Given the description of an element on the screen output the (x, y) to click on. 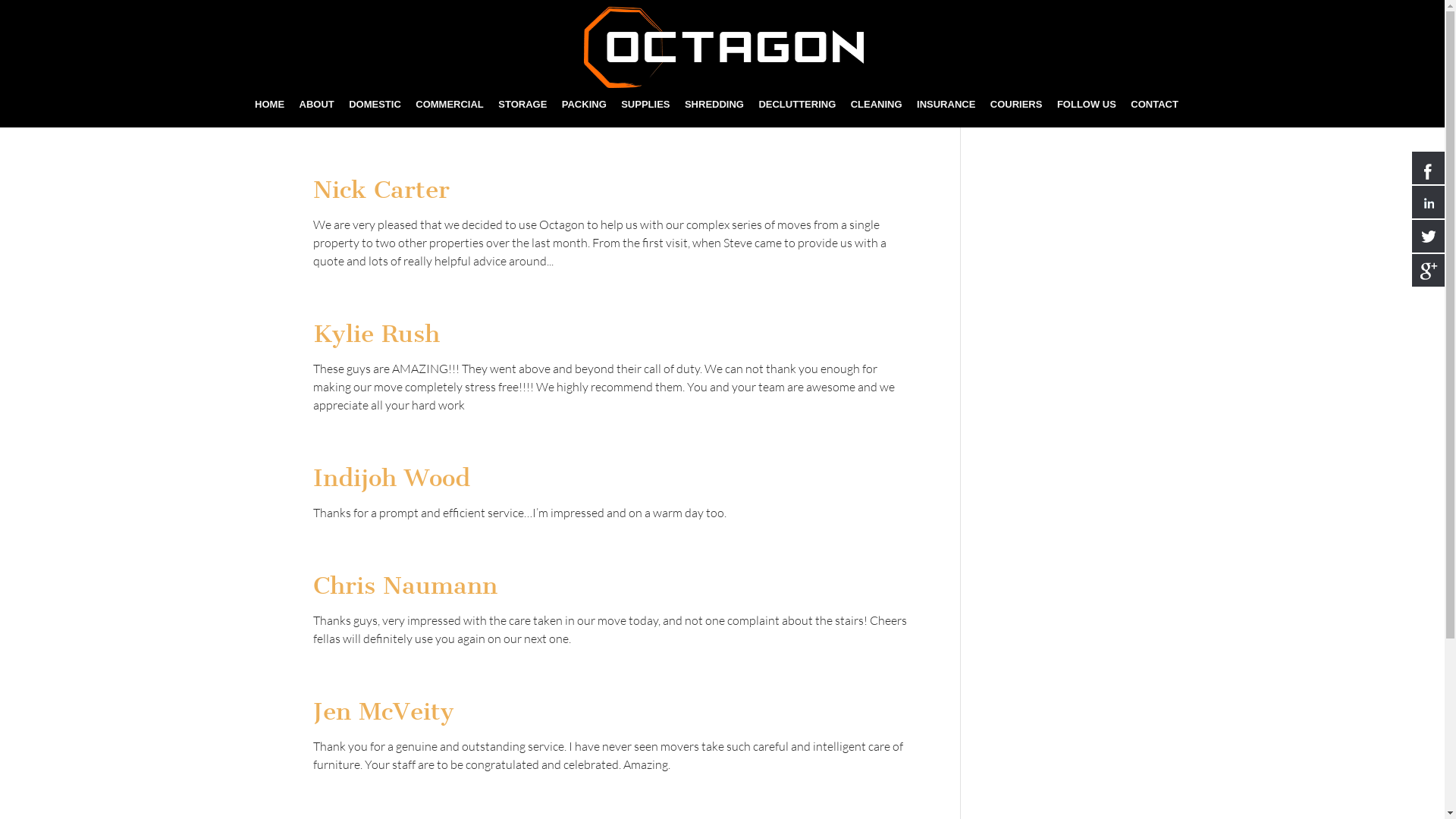
PACKING Element type: text (583, 113)
FOLLOW US Element type: text (1086, 113)
Chris Naumann Element type: text (404, 585)
CONTACT Element type: text (1154, 113)
SUPPLIES Element type: text (645, 113)
Kylie Rush Element type: text (375, 333)
ABOUT Element type: text (315, 113)
Nick Carter Element type: text (380, 189)
CLEANING Element type: text (876, 113)
COURIERS Element type: text (1016, 113)
DECLUTTERING Element type: text (796, 113)
Jen McVeity Element type: text (382, 710)
HOME Element type: text (269, 113)
SHREDDING Element type: text (713, 113)
DOMESTIC Element type: text (374, 113)
COMMERCIAL Element type: text (449, 113)
INSURANCE Element type: text (945, 113)
STORAGE Element type: text (522, 113)
Indijoh Wood Element type: text (390, 477)
